Given the description of an element on the screen output the (x, y) to click on. 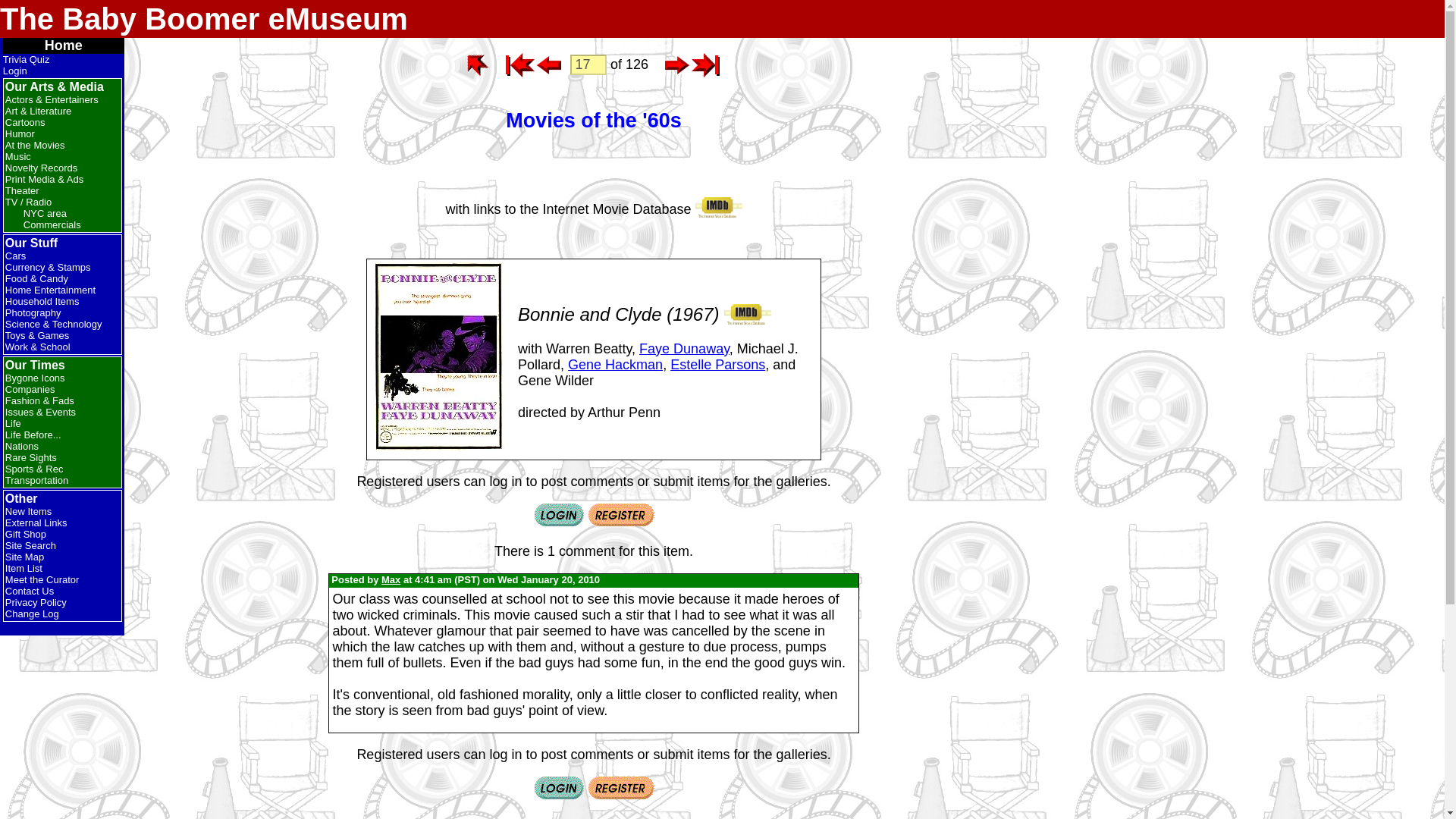
Next item (676, 65)
Home (203, 18)
The Baby Boomer eMuseum (203, 18)
View member profile (390, 579)
First item (519, 64)
Last item (705, 64)
Back to Movies of the '60s gallery (478, 65)
Previous item (548, 65)
17 (588, 64)
